Given the description of an element on the screen output the (x, y) to click on. 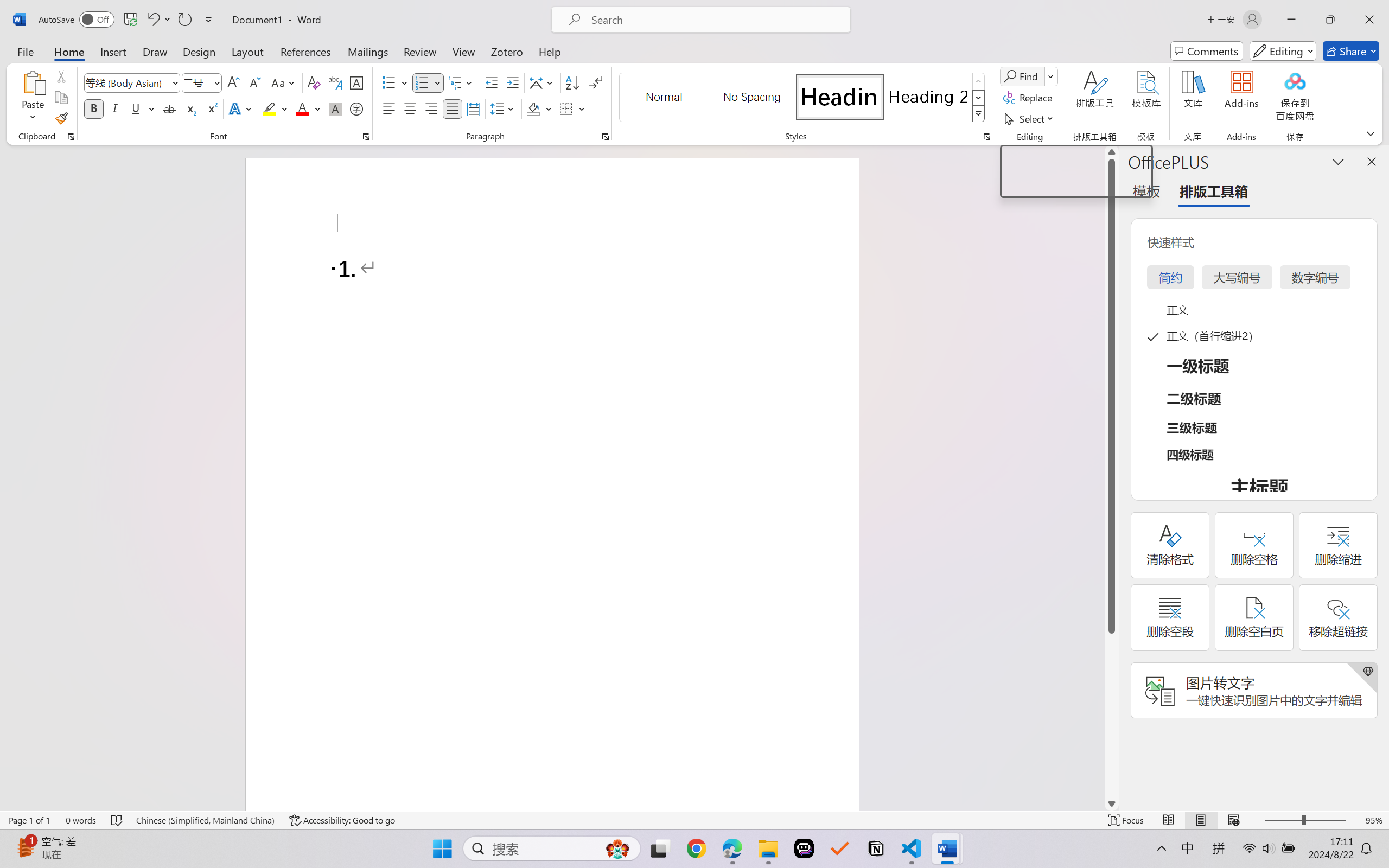
Line up (1111, 151)
